Given the description of an element on the screen output the (x, y) to click on. 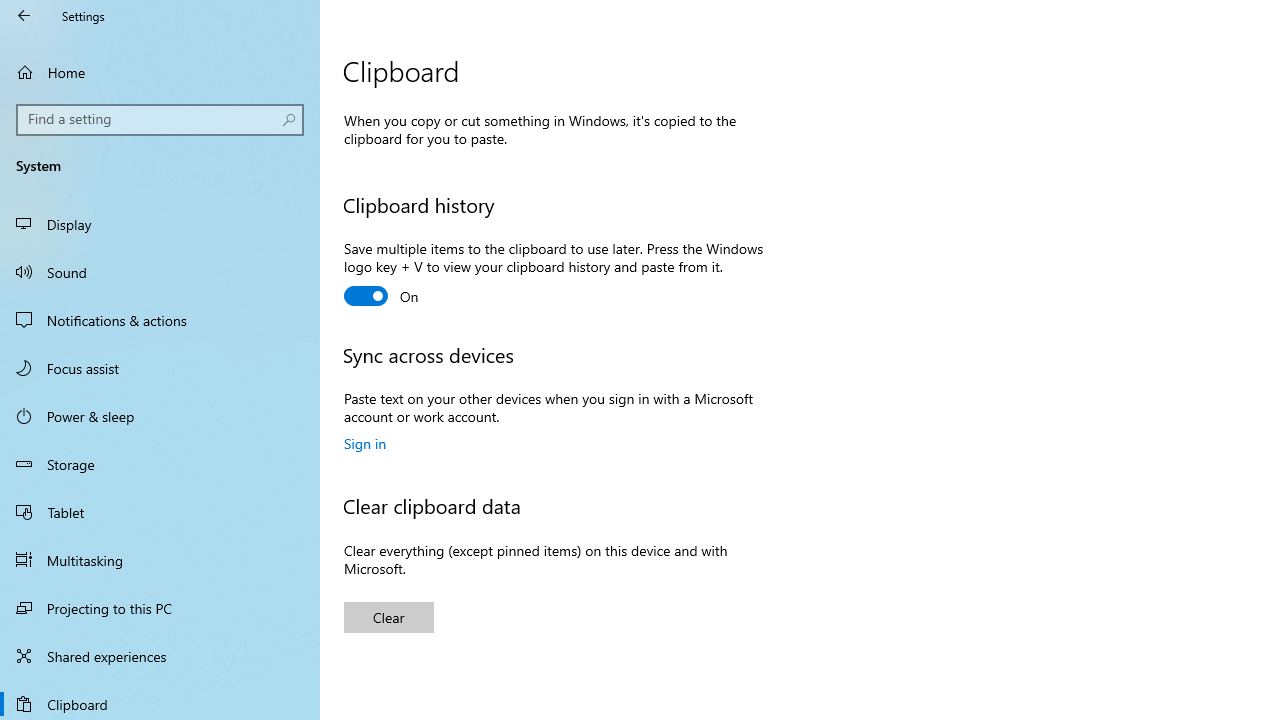
Clear (388, 616)
